Given the description of an element on the screen output the (x, y) to click on. 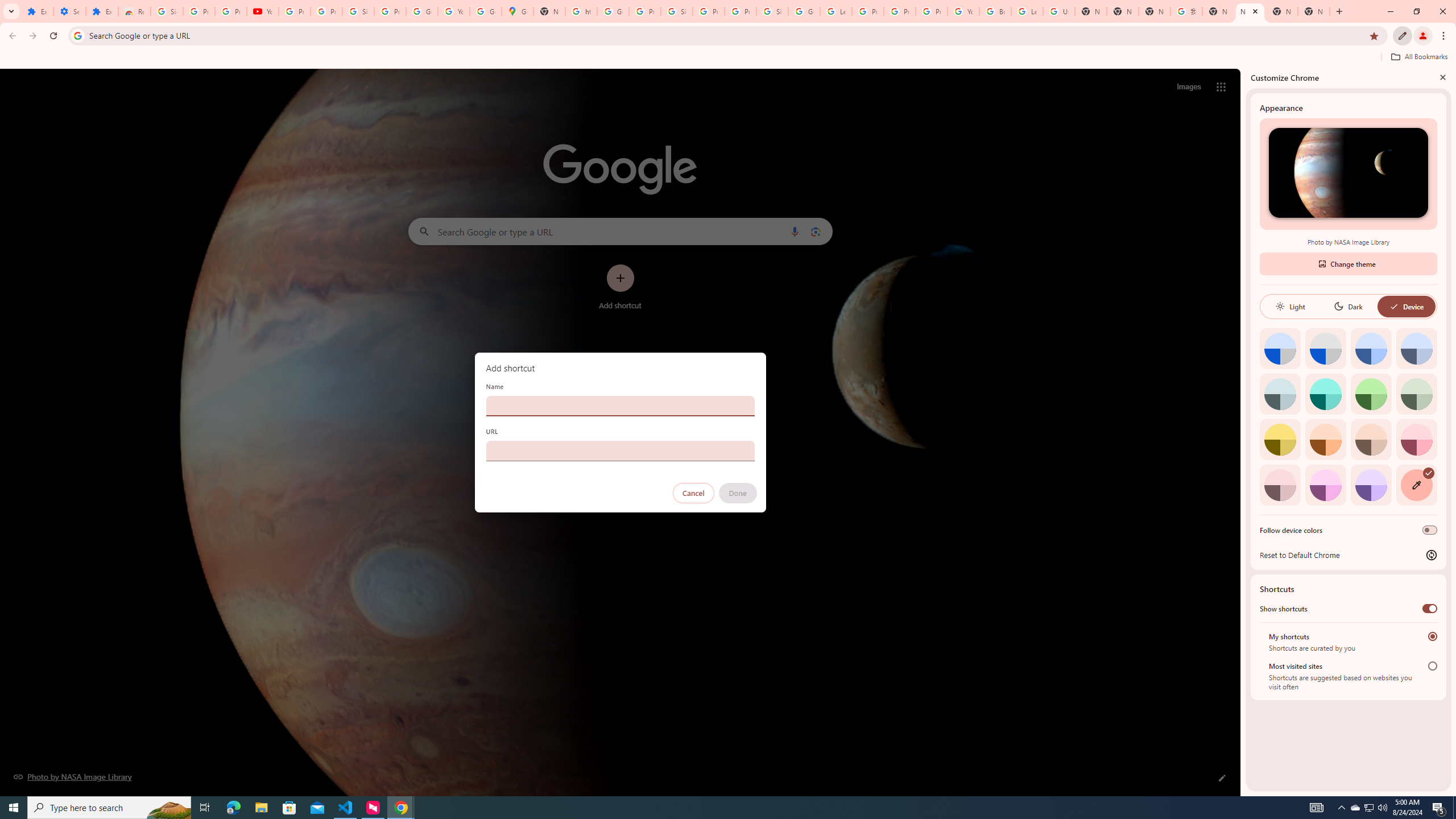
Change theme (1348, 263)
Default color (1279, 348)
Google Maps (517, 11)
Citron (1279, 439)
Dark (1348, 305)
Custom color (1416, 484)
